Given the description of an element on the screen output the (x, y) to click on. 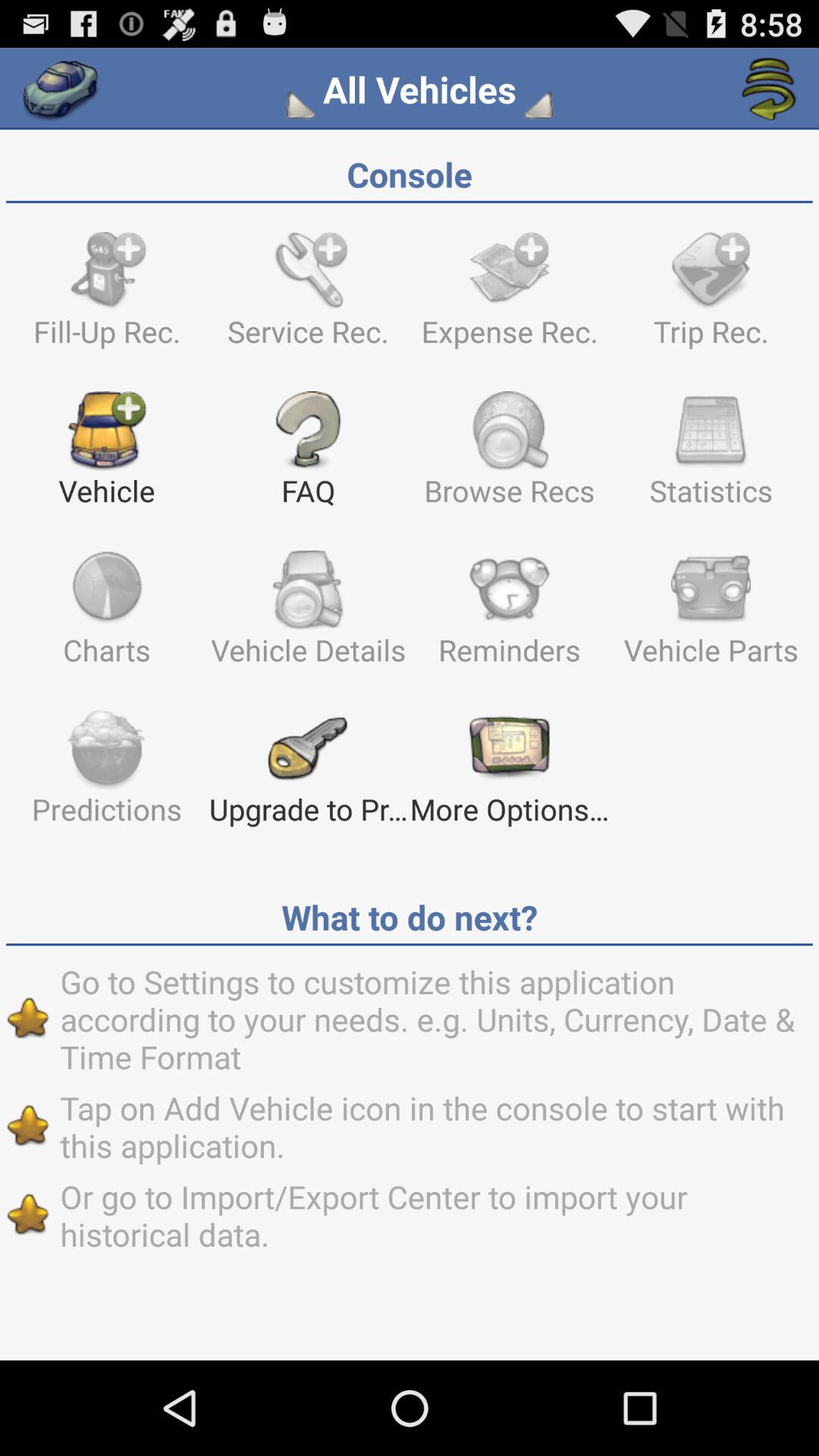
launch the upgrade to pro! icon (307, 773)
